Given the description of an element on the screen output the (x, y) to click on. 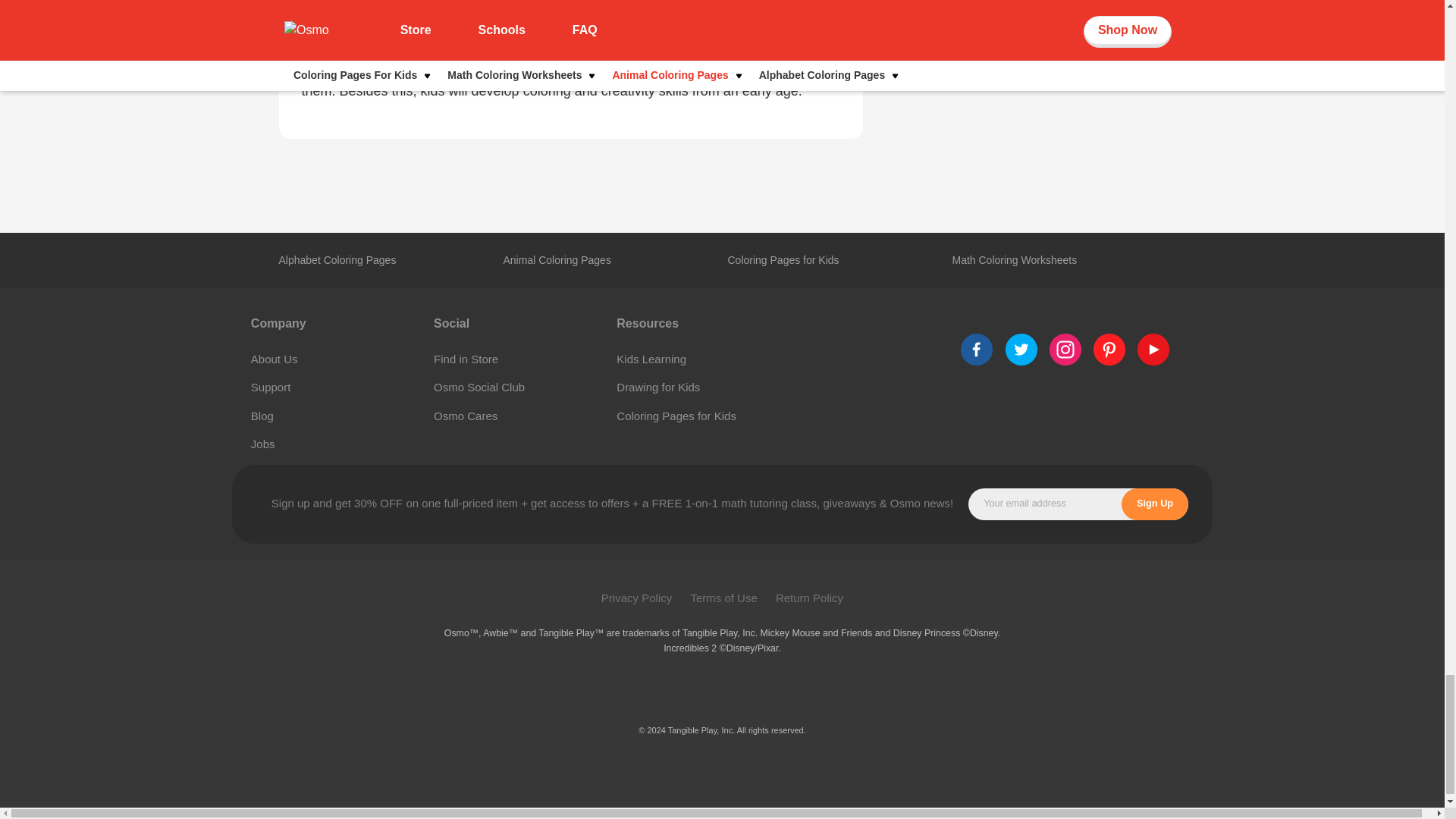
Join the party on Facebook (976, 349)
Join the party on Facebook (1153, 349)
Join the party on Facebook (1109, 349)
Join the party on Facebook (1021, 349)
Join the party on Facebook (1065, 349)
